Given the description of an element on the screen output the (x, y) to click on. 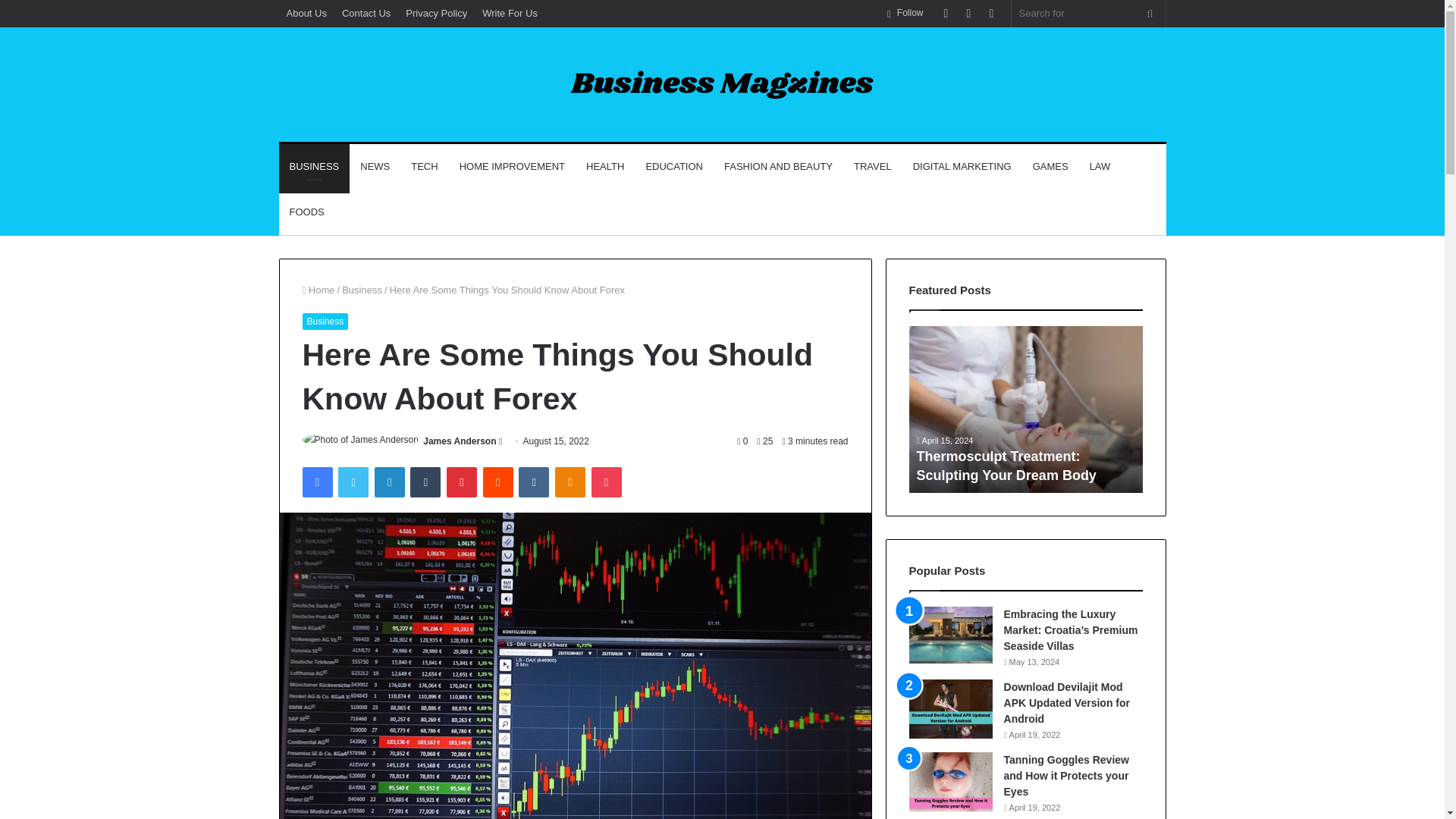
Pinterest (461, 481)
Facebook (316, 481)
Business Magzines (721, 84)
About Us (306, 13)
James Anderson (459, 440)
EDUCATION (673, 166)
TECH (424, 166)
Reddit (498, 481)
Random Article (967, 13)
FOODS (306, 212)
Contact Us (365, 13)
James Anderson (459, 440)
Odnoklassniki (569, 481)
Tumblr (425, 481)
TRAVEL (872, 166)
